Given the description of an element on the screen output the (x, y) to click on. 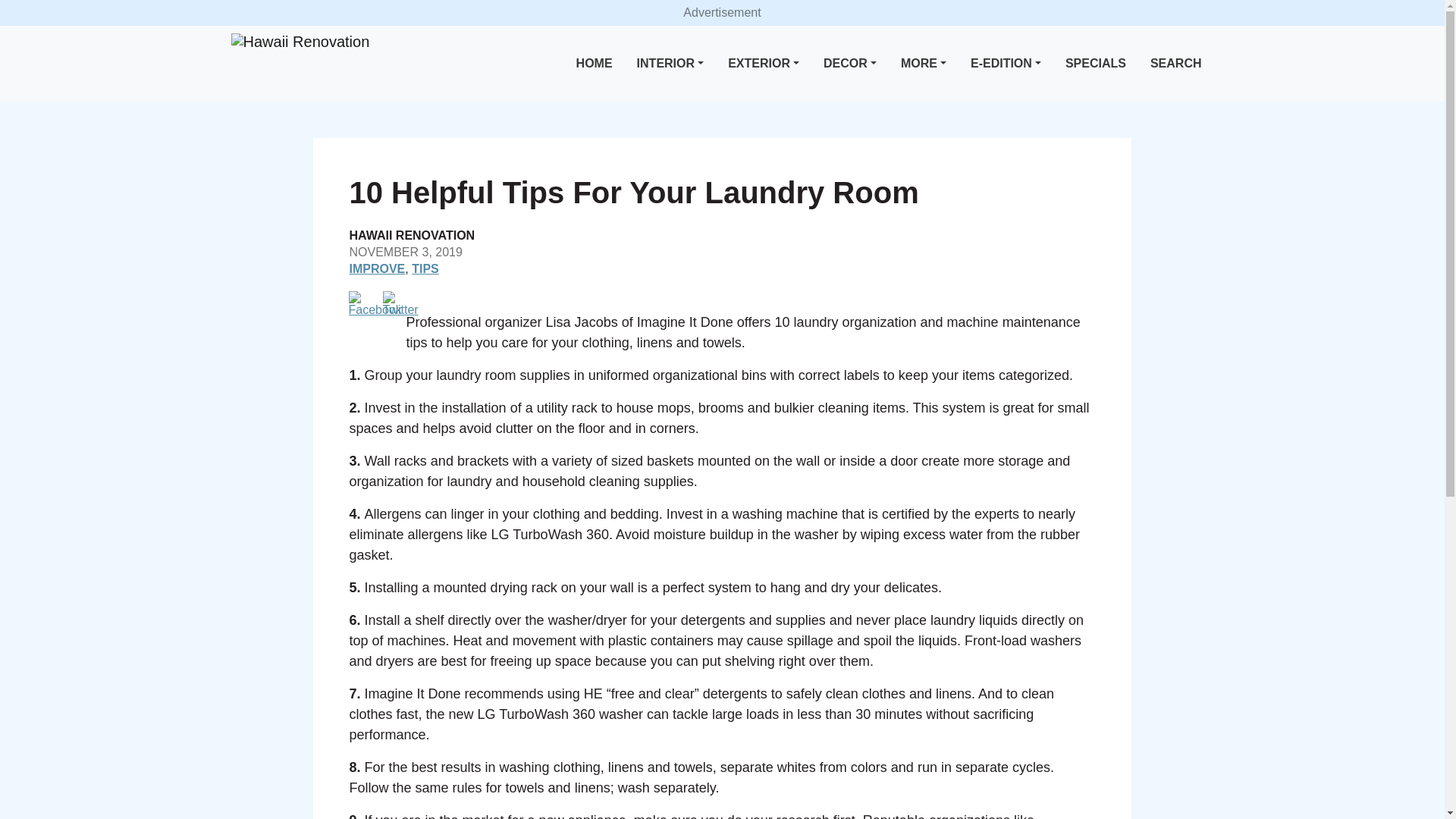
SPECIALS (1095, 63)
EXTERIOR (763, 63)
Twitter (399, 303)
MORE (923, 63)
Hawaii Renovation (299, 41)
DECOR (849, 63)
E-EDITION (1004, 63)
IMPROVE (376, 268)
HOME (594, 63)
Facebook (375, 303)
